Given the description of an element on the screen output the (x, y) to click on. 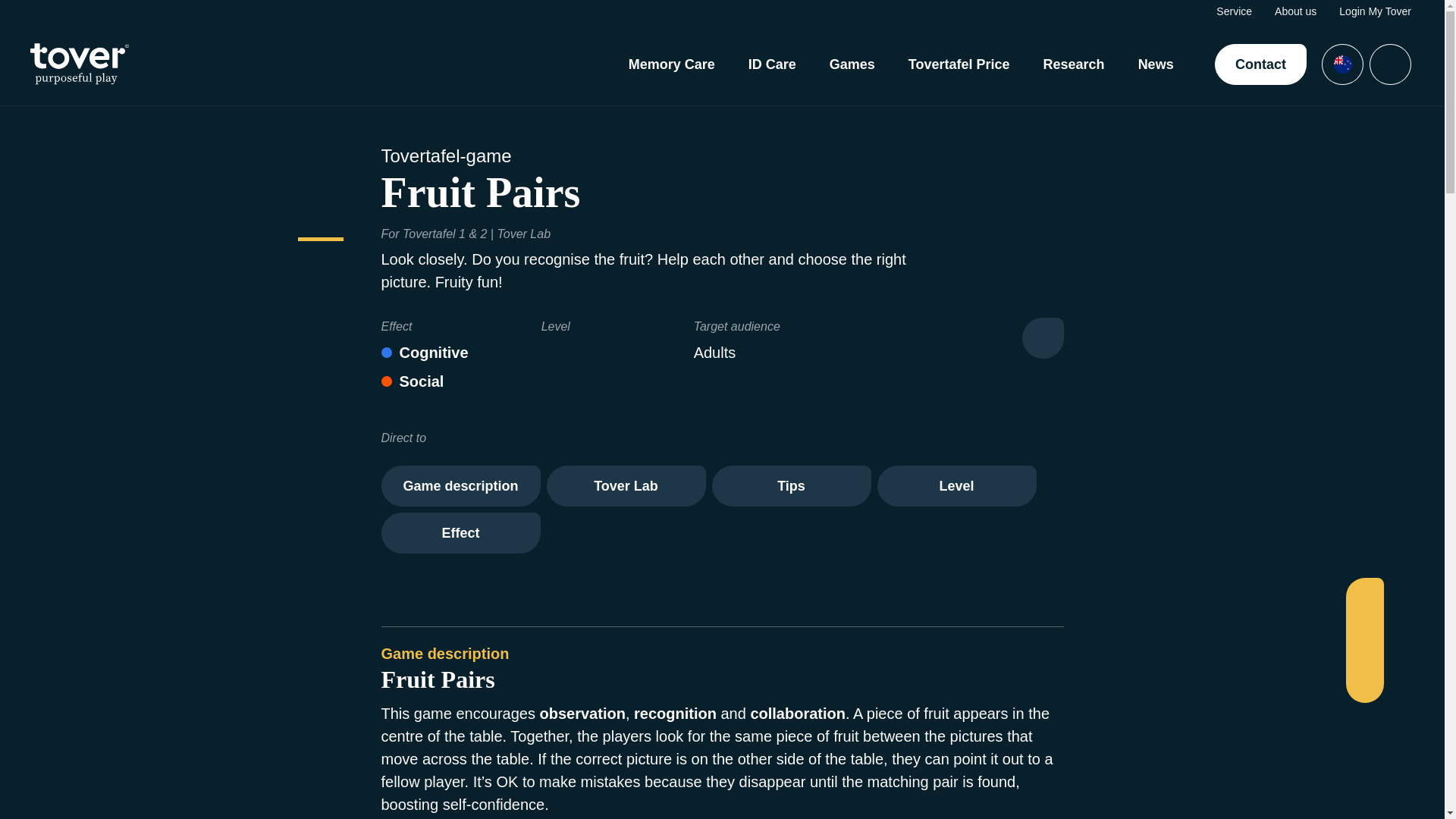
LinkedIn (1364, 652)
Languages (1342, 64)
Game description (460, 486)
About us (1295, 10)
Research (1073, 64)
Facebook (1364, 600)
Print (1043, 337)
Tover Lab (625, 486)
Service (1233, 10)
News (1155, 64)
